Given the description of an element on the screen output the (x, y) to click on. 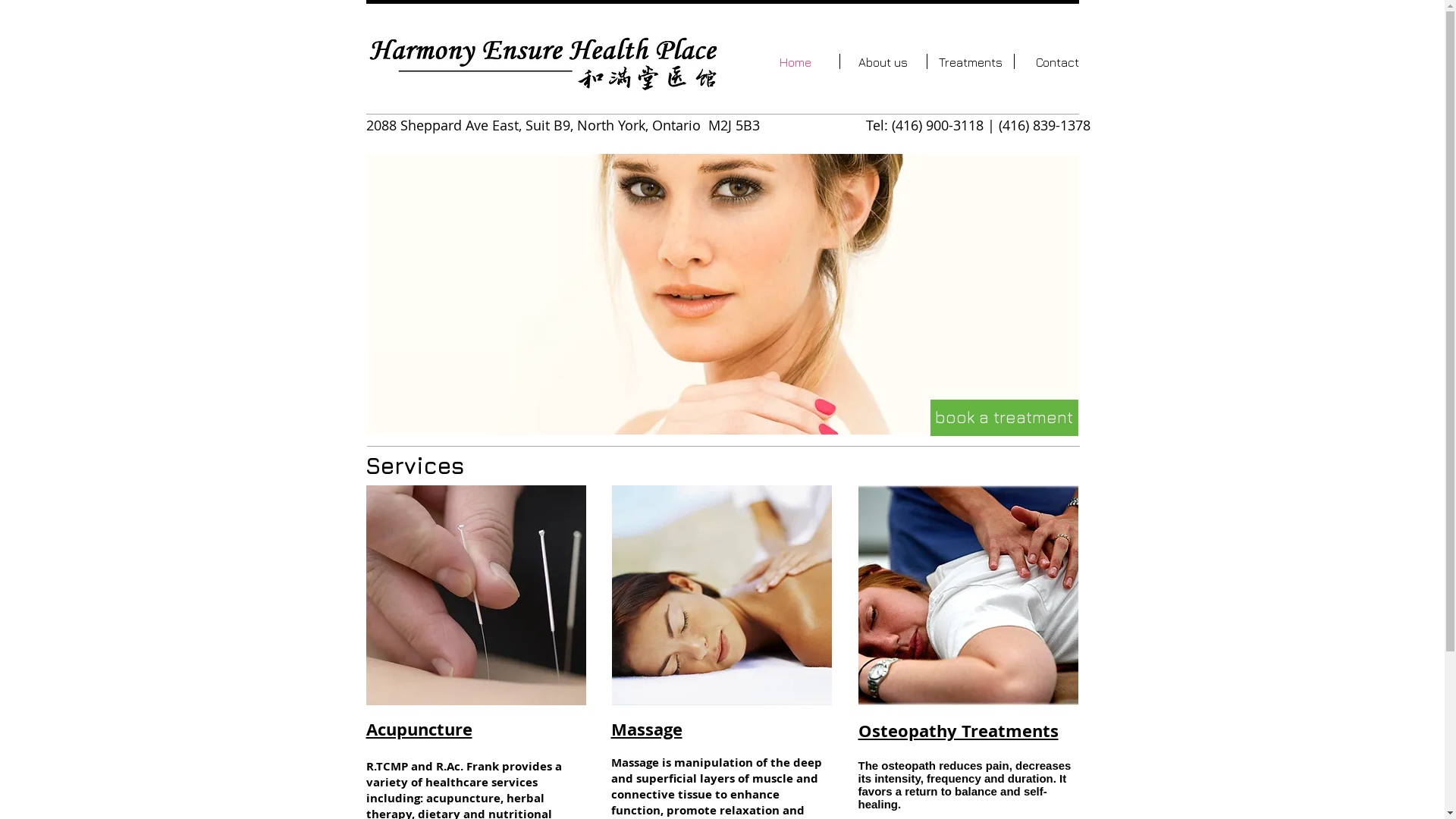
students_omt1_07.jpg Element type: hover (968, 595)
Home Element type: text (795, 61)
Untitled-2.jpg Element type: hover (544, 73)
acupuncture-2.jpg Element type: hover (475, 595)
Massage Element type: hover (721, 595)
About us Element type: text (883, 61)
Treatments Element type: text (969, 61)
Contact Element type: text (1057, 61)
book a treatment Element type: text (1003, 417)
